Given the description of an element on the screen output the (x, y) to click on. 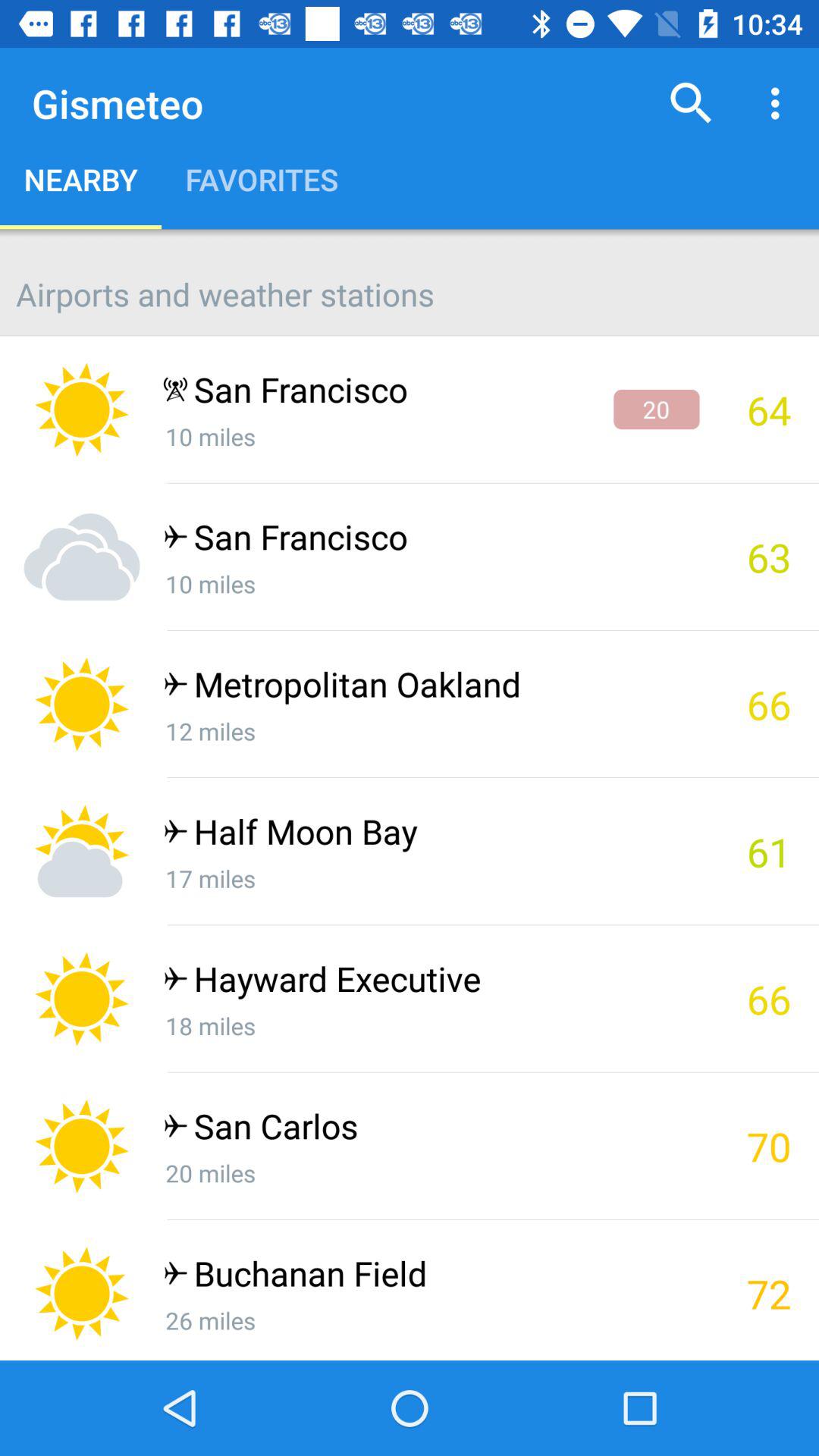
select the 17 miles app (431, 878)
